Given the description of an element on the screen output the (x, y) to click on. 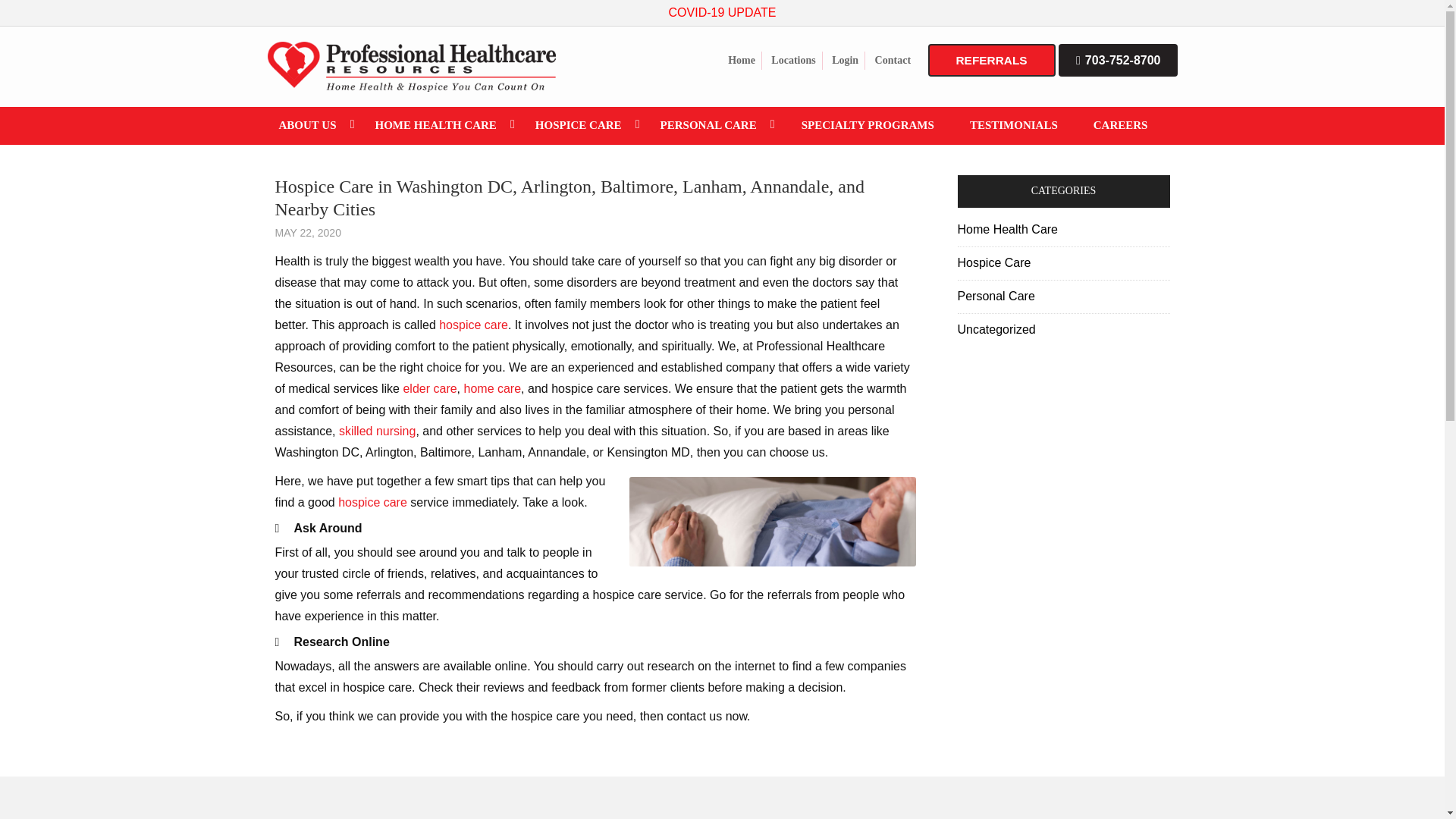
CAREERS (1120, 125)
TESTIMONIALS (1013, 125)
703-752-8700 (1117, 60)
Contact (893, 60)
Hospice Care (994, 262)
SPECIALTY PROGRAMS (868, 125)
PERSONAL CARE (716, 125)
HOME HEALTH CARE (444, 125)
Login (844, 60)
elder care (430, 388)
